Given the description of an element on the screen output the (x, y) to click on. 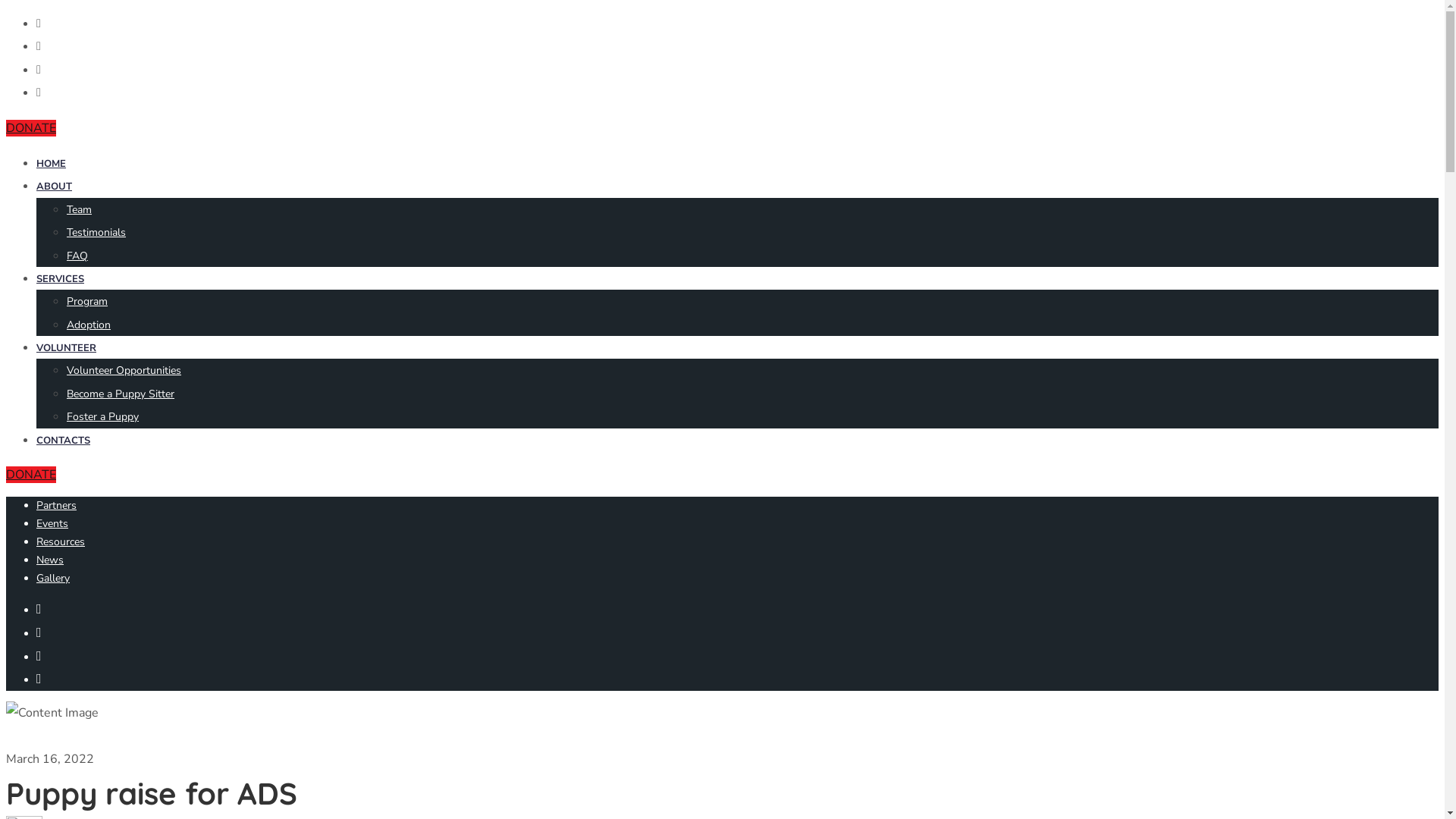
Foster a Puppy Element type: text (102, 416)
Become a Puppy Sitter Element type: text (120, 393)
Partners Element type: text (56, 505)
DONATE Element type: text (31, 474)
ABOUT Element type: text (54, 186)
Testimonials Element type: text (95, 232)
DONATE Element type: text (31, 127)
FAQ Element type: text (76, 255)
Resources Element type: text (60, 541)
News Element type: text (49, 559)
CONTACTS Element type: text (63, 440)
HOME Element type: text (50, 163)
Adoption Element type: text (88, 324)
Team Element type: text (78, 209)
VOLUNTEER Element type: text (66, 347)
Events Element type: text (52, 523)
Volunteer Opportunities Element type: text (123, 370)
Gallery Element type: text (52, 578)
Program Element type: text (86, 301)
SERVICES Element type: text (60, 278)
